Given the description of an element on the screen output the (x, y) to click on. 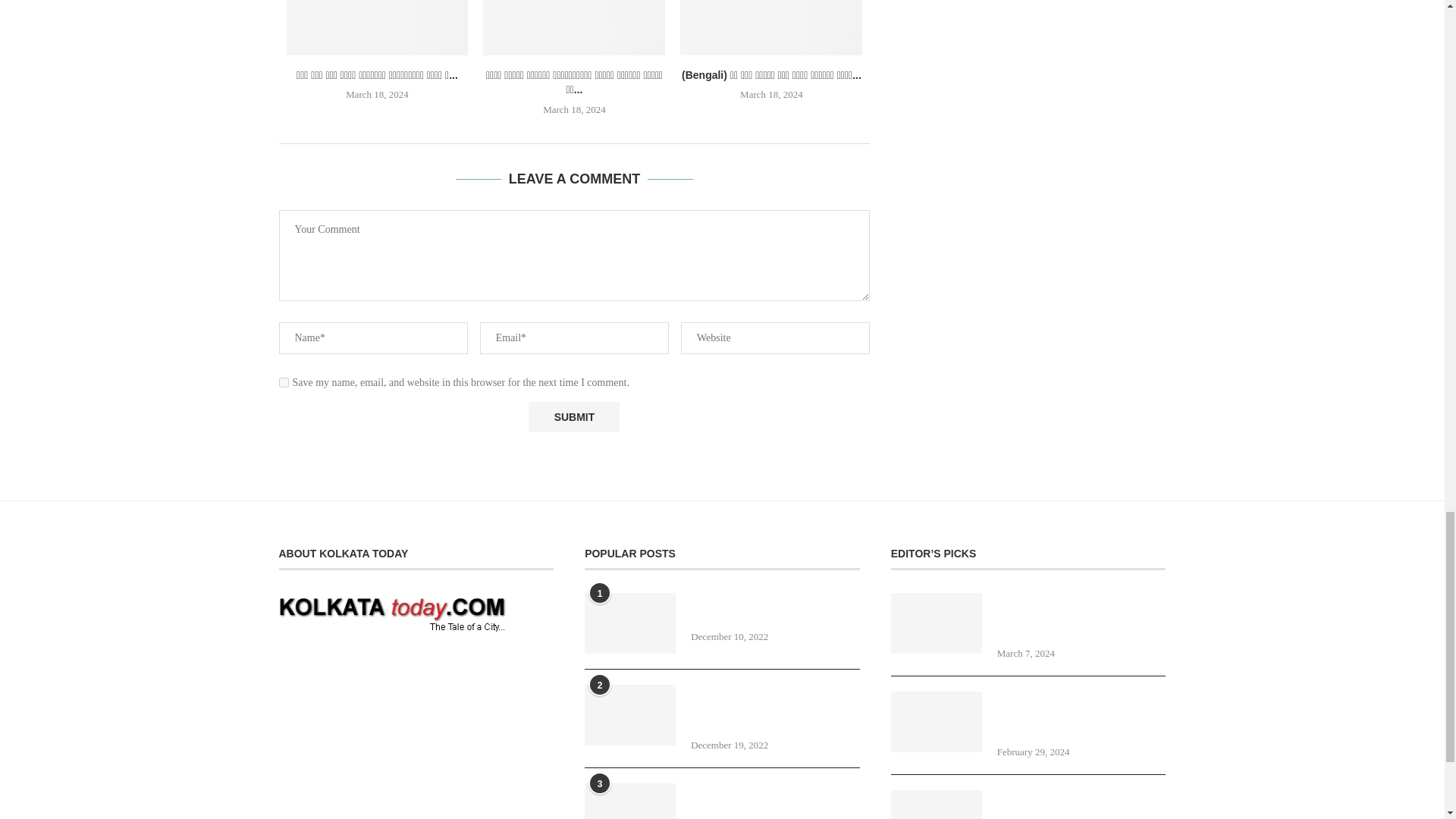
Submit (574, 417)
yes (283, 382)
